Given the description of an element on the screen output the (x, y) to click on. 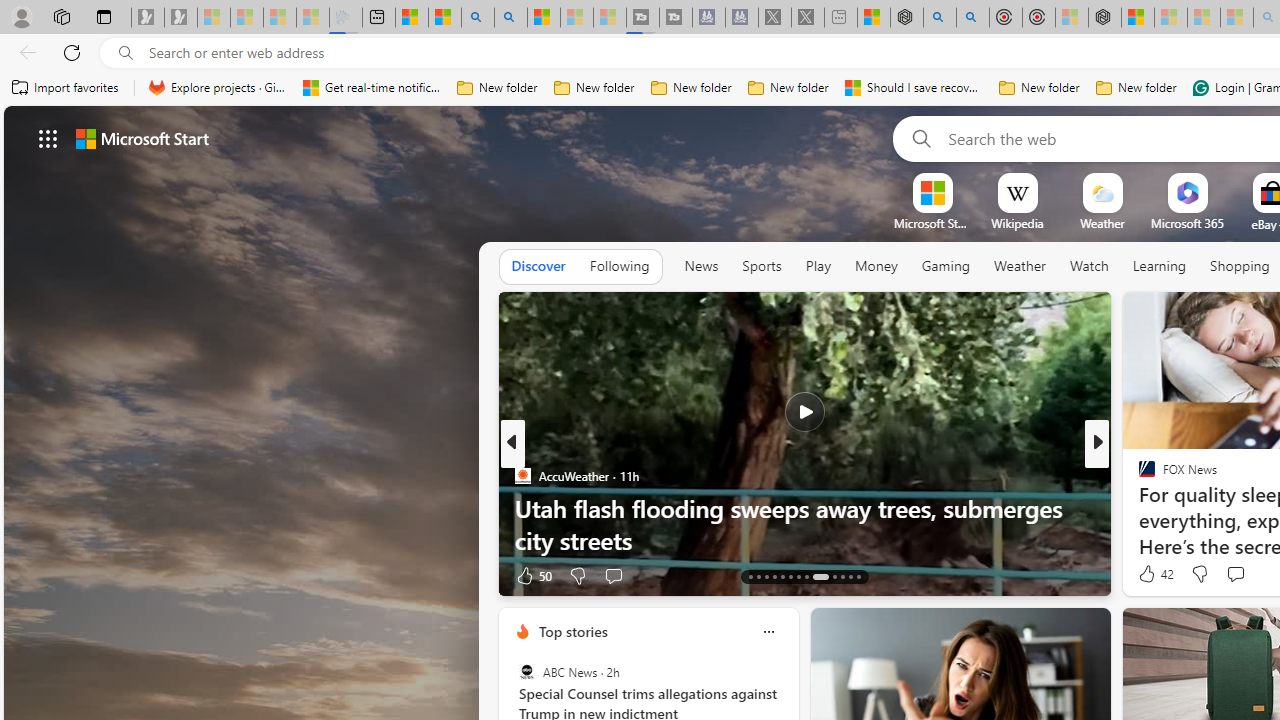
Play (817, 265)
Work + Money (1138, 507)
AutomationID: tab-16 (774, 576)
AutomationID: tab-15 (765, 576)
Wildlife - MSN (873, 17)
New tab - Sleeping (841, 17)
Weather (1020, 265)
Learning (1159, 265)
BRAINY DOSE (1138, 475)
50 Like (532, 574)
Gaming (945, 265)
Money (875, 265)
Microsoft Start Sports (932, 223)
